Given the description of an element on the screen output the (x, y) to click on. 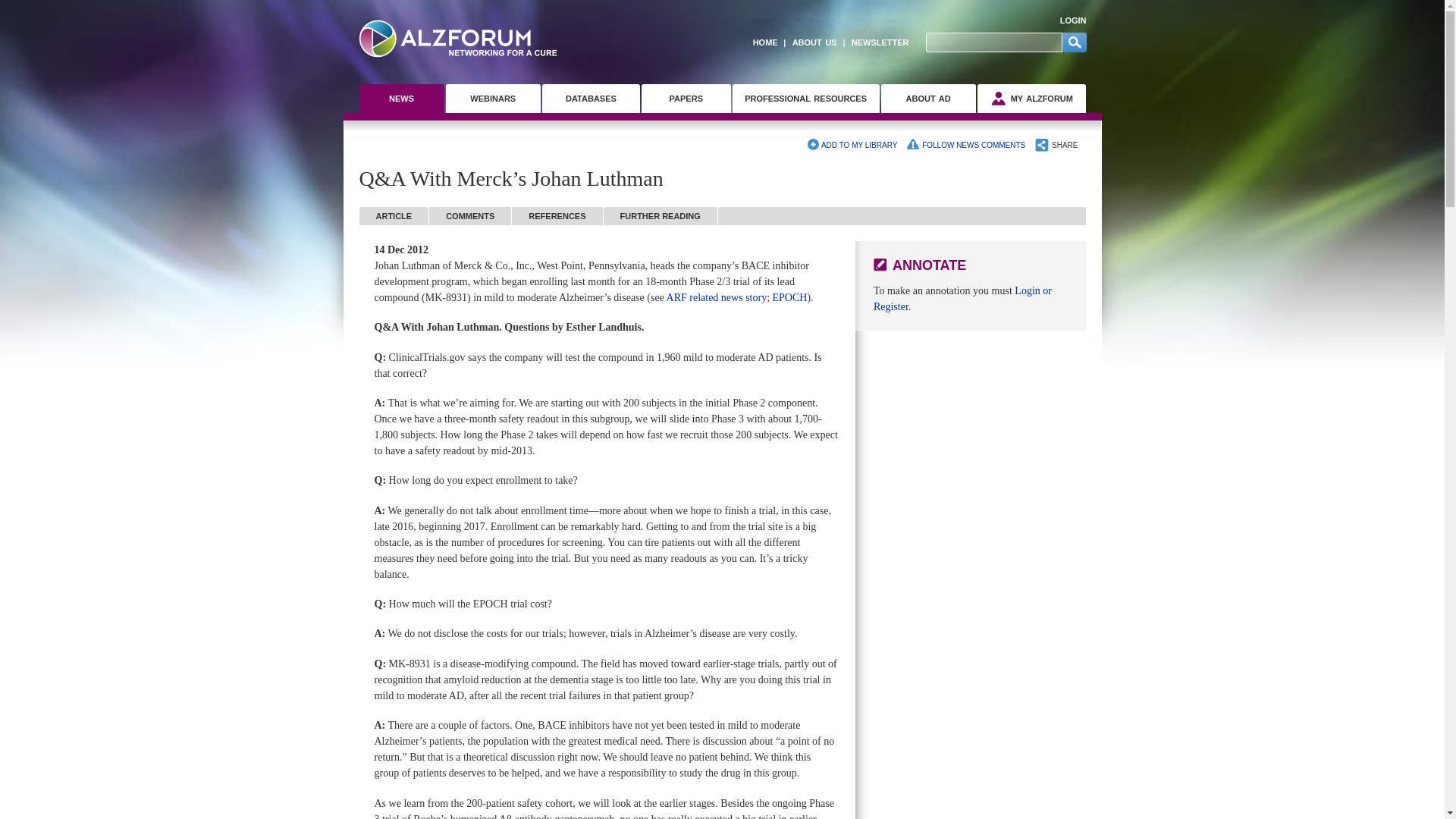
WEBINARS (492, 98)
Go (1073, 42)
Go (1073, 42)
Home (457, 38)
ARF related news story (716, 297)
FOLLOW NEWS COMMENTS (966, 145)
HOME (761, 41)
ABOUT US (810, 41)
COMMENTS (470, 216)
DATABASES (590, 98)
